Given the description of an element on the screen output the (x, y) to click on. 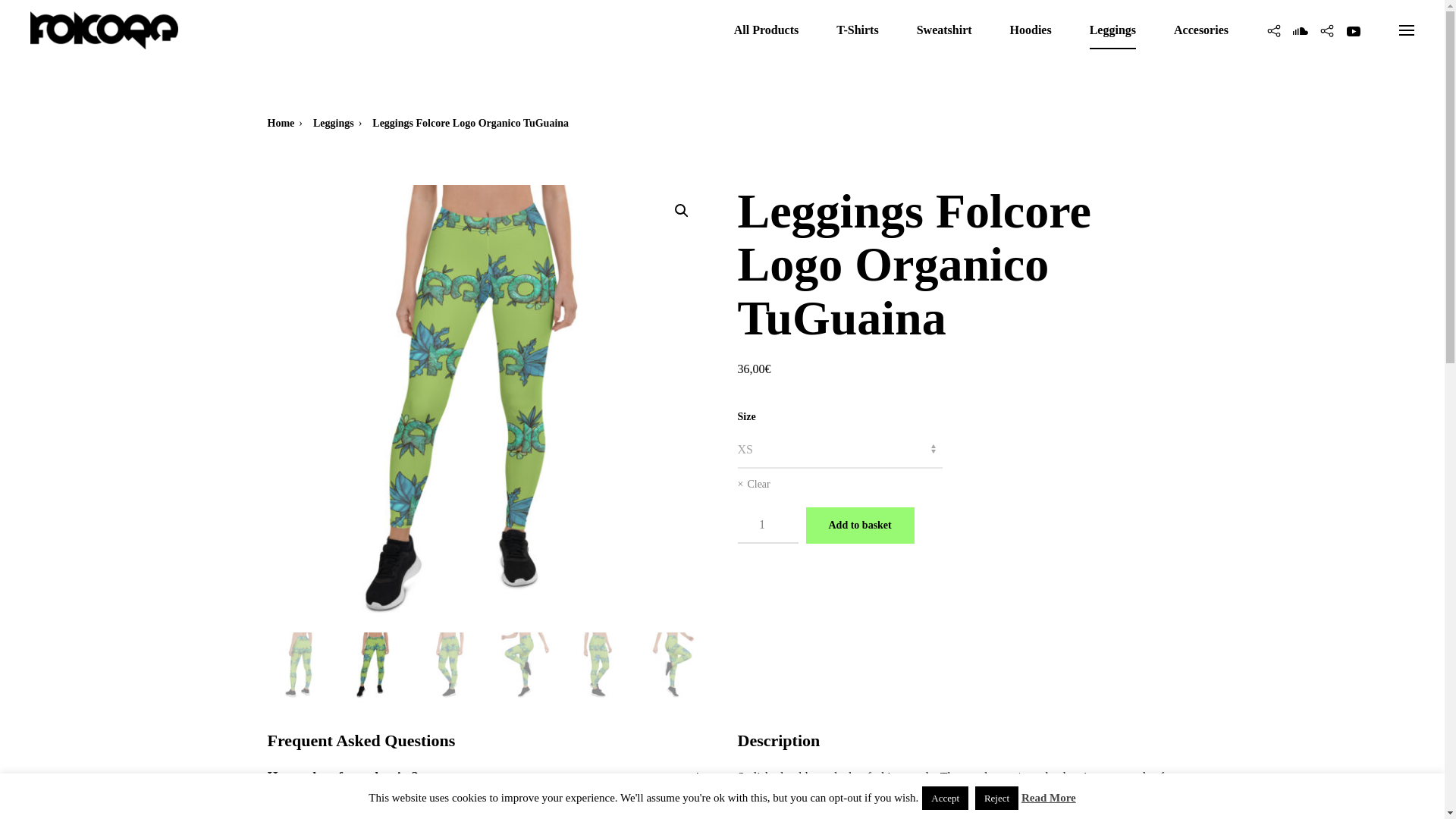
Reject (996, 797)
All Products (765, 30)
Read More (1048, 797)
How to buy from the site? (486, 777)
Sweatshirt (944, 30)
Accept (944, 797)
Home (280, 122)
1 (766, 524)
Clear (839, 483)
